Given the description of an element on the screen output the (x, y) to click on. 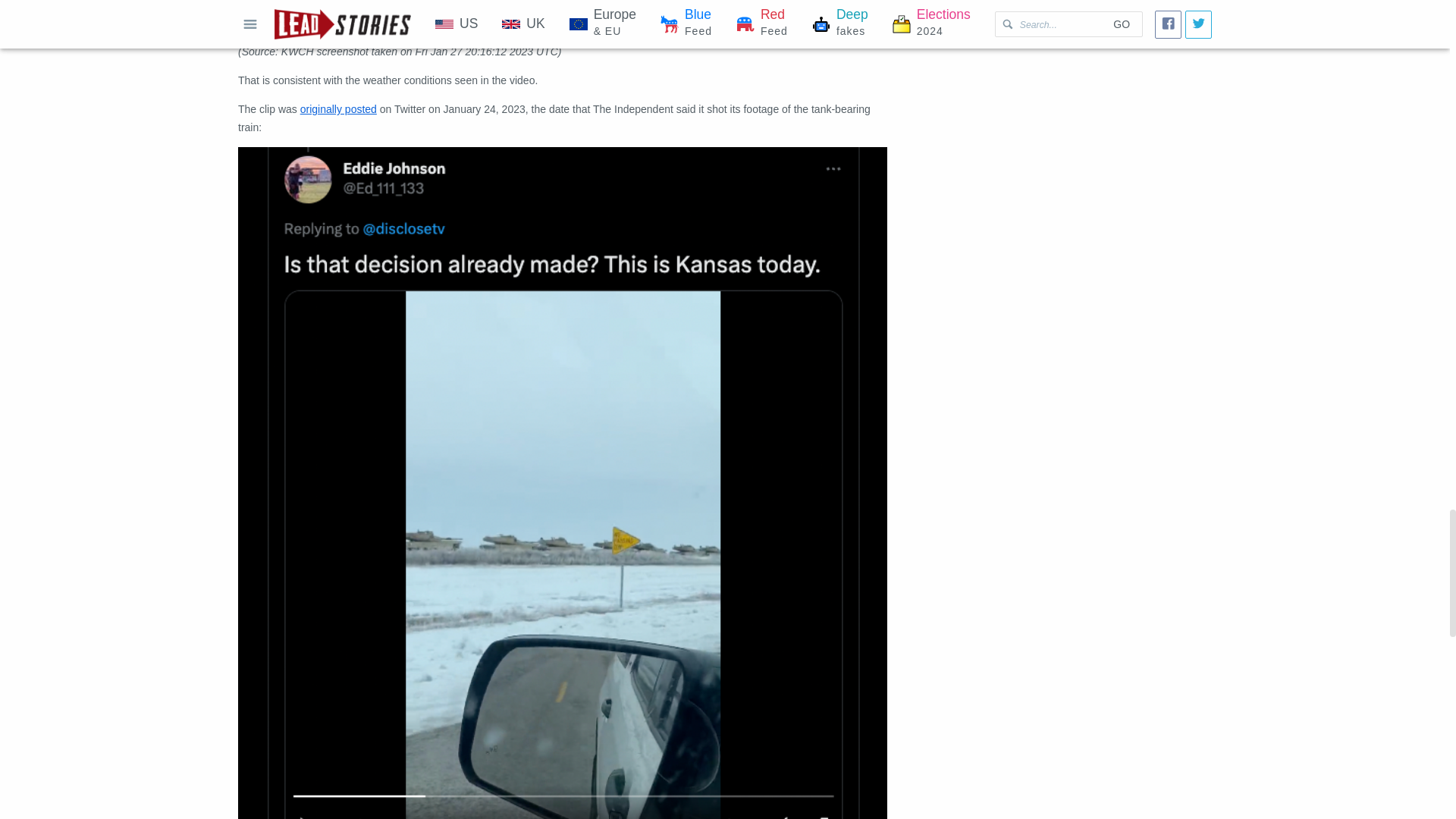
originally posted (338, 109)
